Given the description of an element on the screen output the (x, y) to click on. 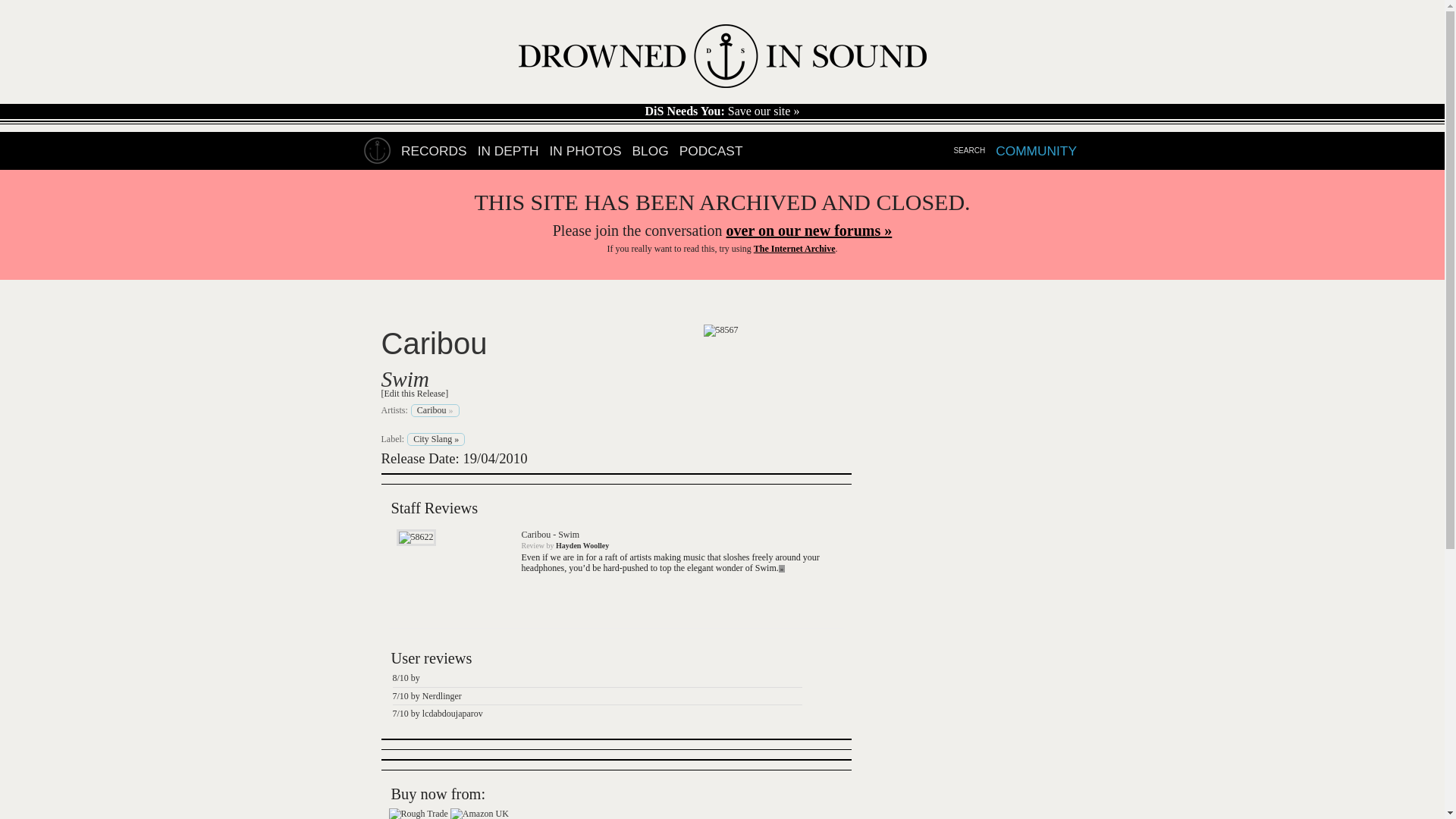
BLOG (649, 150)
Hayden Woolley (582, 545)
COMMUNITY (1036, 150)
Caribou (433, 343)
IN PHOTOS (585, 150)
The Internet Archive (794, 248)
Continue reading... (782, 568)
PODCAST (710, 150)
IN DEPTH (507, 150)
RECORDS (434, 150)
